Given the description of an element on the screen output the (x, y) to click on. 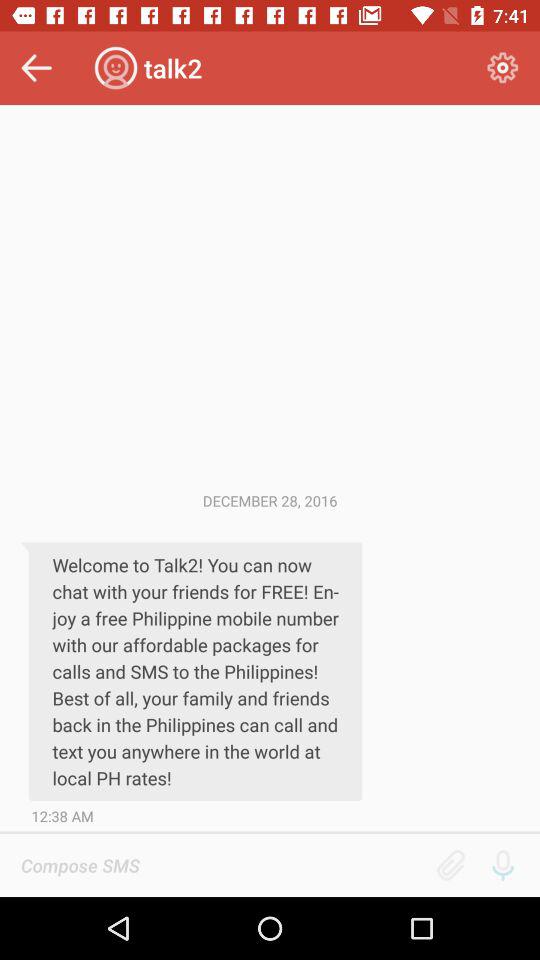
type a message (222, 865)
